Given the description of an element on the screen output the (x, y) to click on. 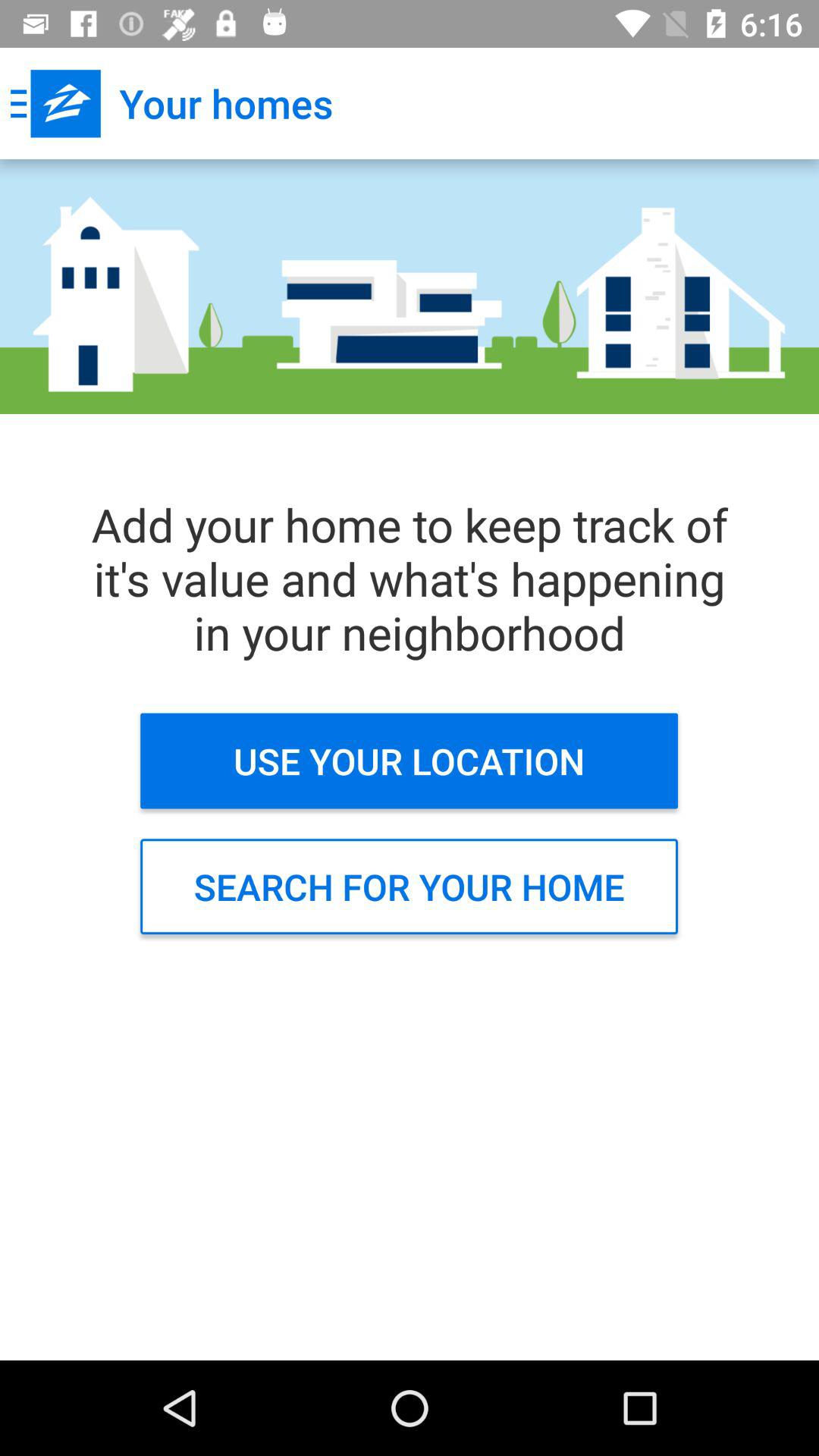
scroll to the use your location (408, 760)
